Given the description of an element on the screen output the (x, y) to click on. 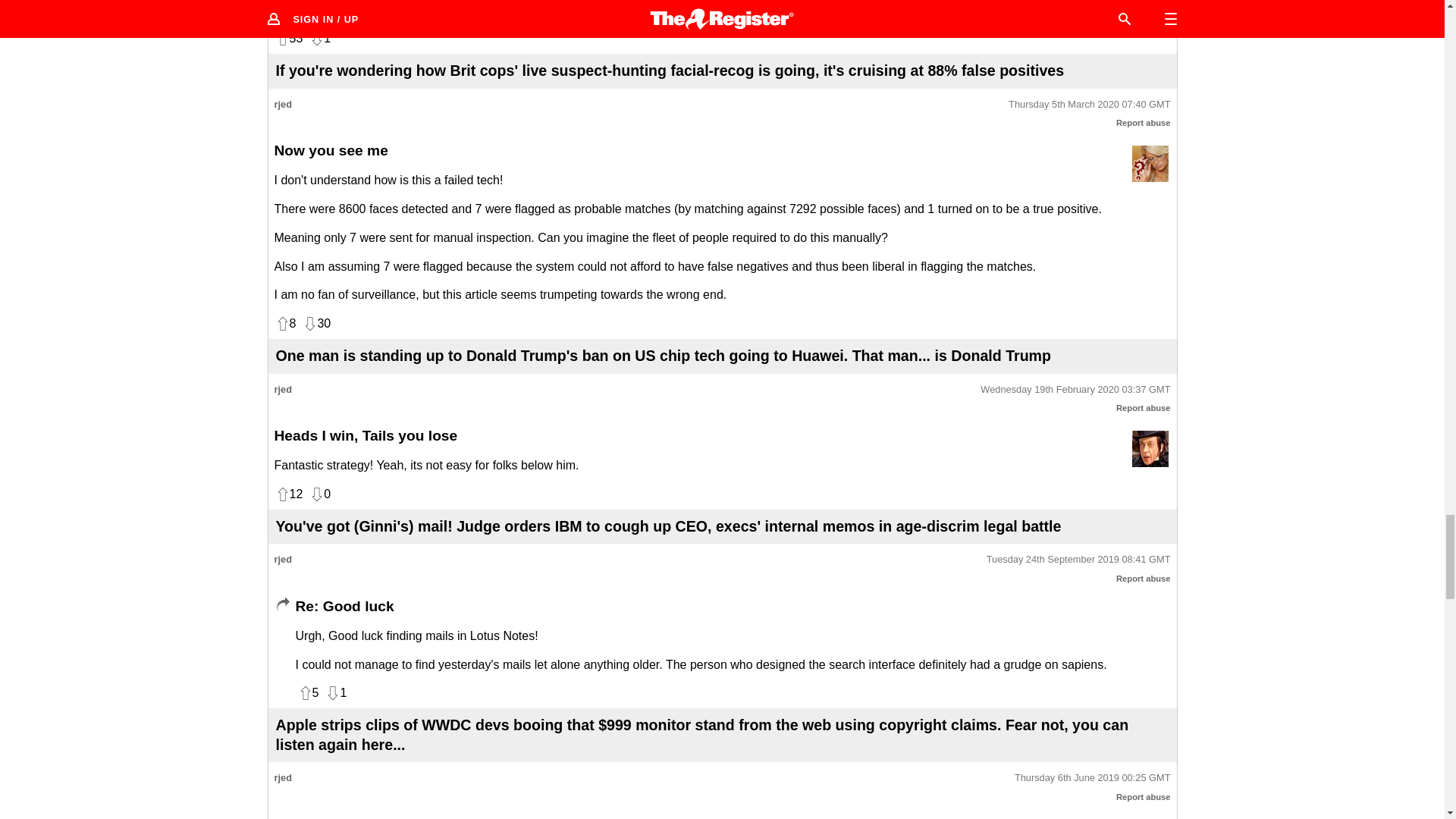
Report abuse (1143, 122)
Report abuse (1143, 407)
